Given the description of an element on the screen output the (x, y) to click on. 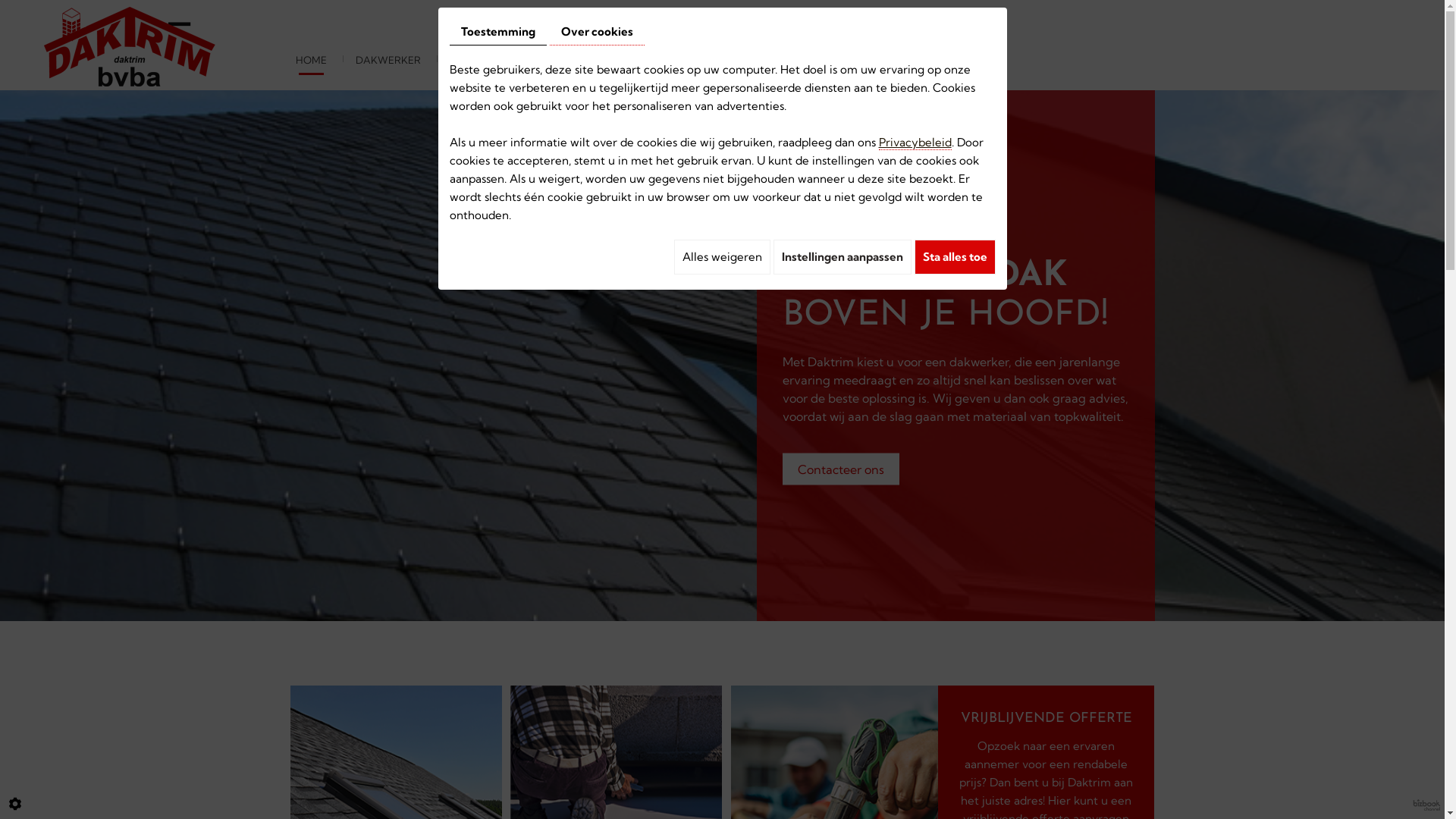
Toestemming Element type: text (497, 31)
Privacybeleid Element type: text (914, 142)
Alles weigeren Element type: text (721, 256)
DAKWERKER Element type: text (387, 59)
HOME Element type: text (310, 59)
Over cookies Element type: text (596, 31)
AANNEMER Element type: text (478, 59)
FOTOALBUM Element type: text (703, 59)
Cookie-instelling bewerken Element type: text (14, 803)
Daktrim - Dakwerken Element type: hover (130, 43)
Sta alles toe Element type: text (954, 256)
Instellingen aanpassen Element type: text (842, 256)
CONTACT Element type: text (789, 59)
KLEINE LOODGIETERIJ Element type: text (589, 59)
Contacteer ons Element type: text (840, 469)
